Given the description of an element on the screen output the (x, y) to click on. 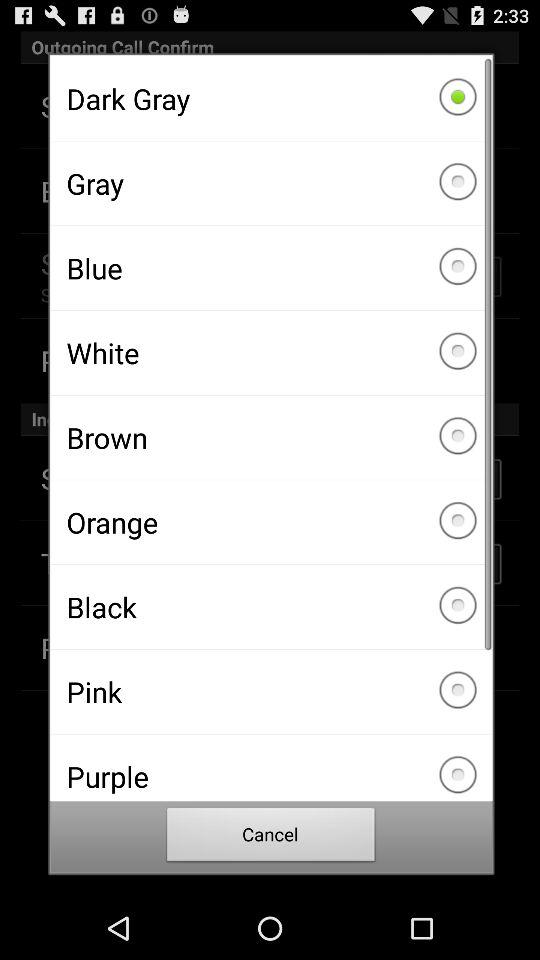
select cancel item (271, 837)
